Given the description of an element on the screen output the (x, y) to click on. 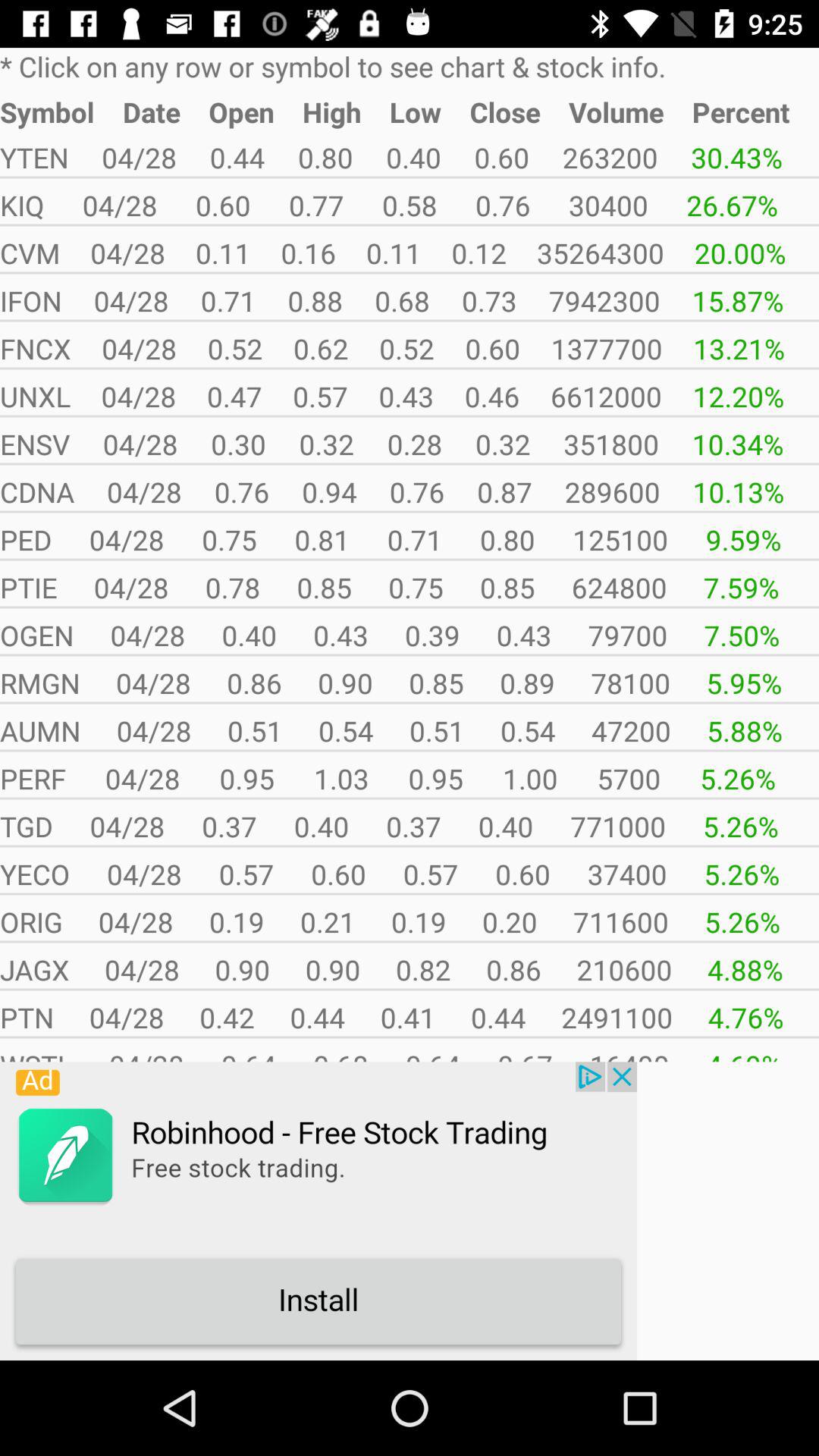
install app (318, 1210)
